Given the description of an element on the screen output the (x, y) to click on. 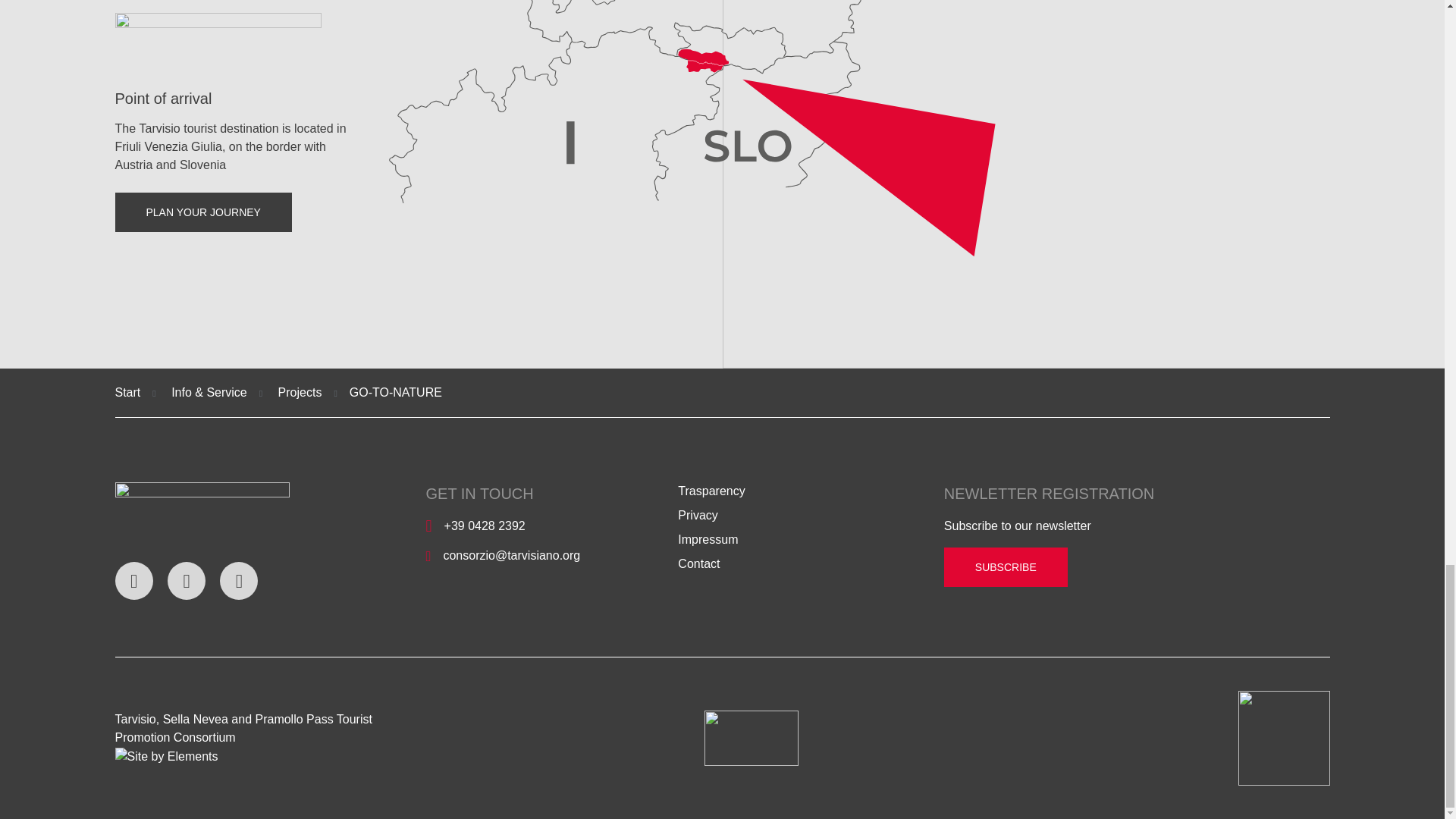
Site by Elements (166, 756)
